Given the description of an element on the screen output the (x, y) to click on. 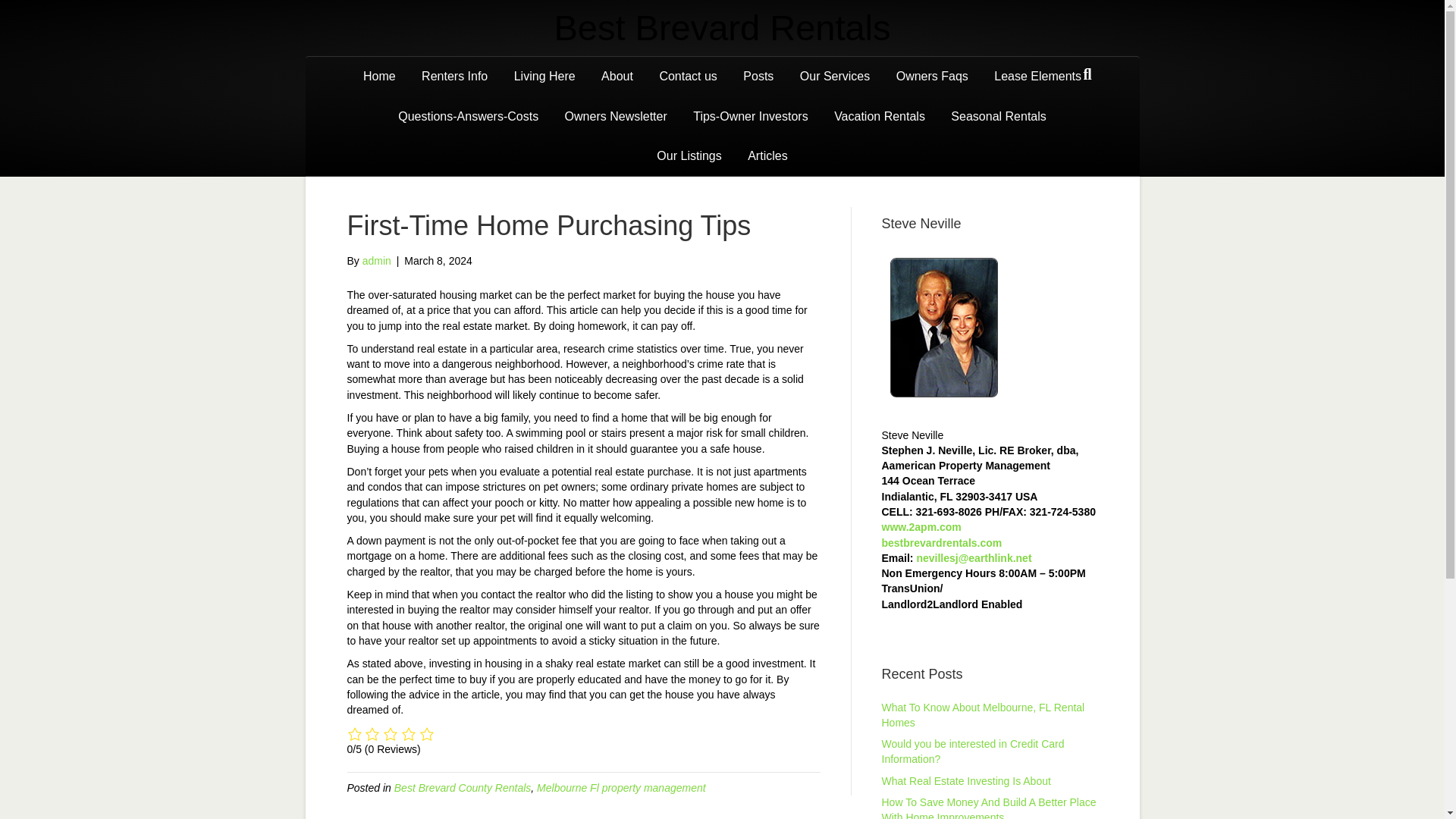
Renters Info (454, 76)
Home (379, 76)
Best Brevard Rentals (721, 28)
